Given the description of an element on the screen output the (x, y) to click on. 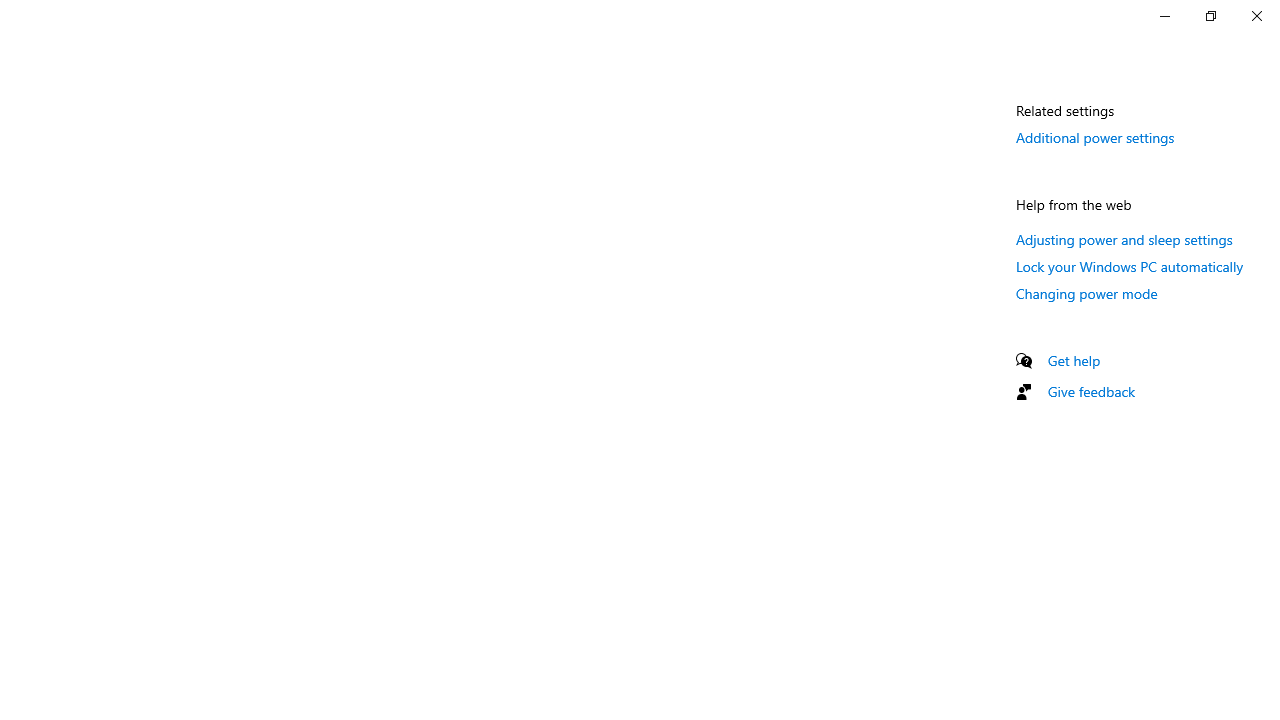
Changing power mode (1087, 293)
Lock your Windows PC automatically (1130, 266)
Additional power settings (1095, 137)
Adjusting power and sleep settings (1124, 239)
